Given the description of an element on the screen output the (x, y) to click on. 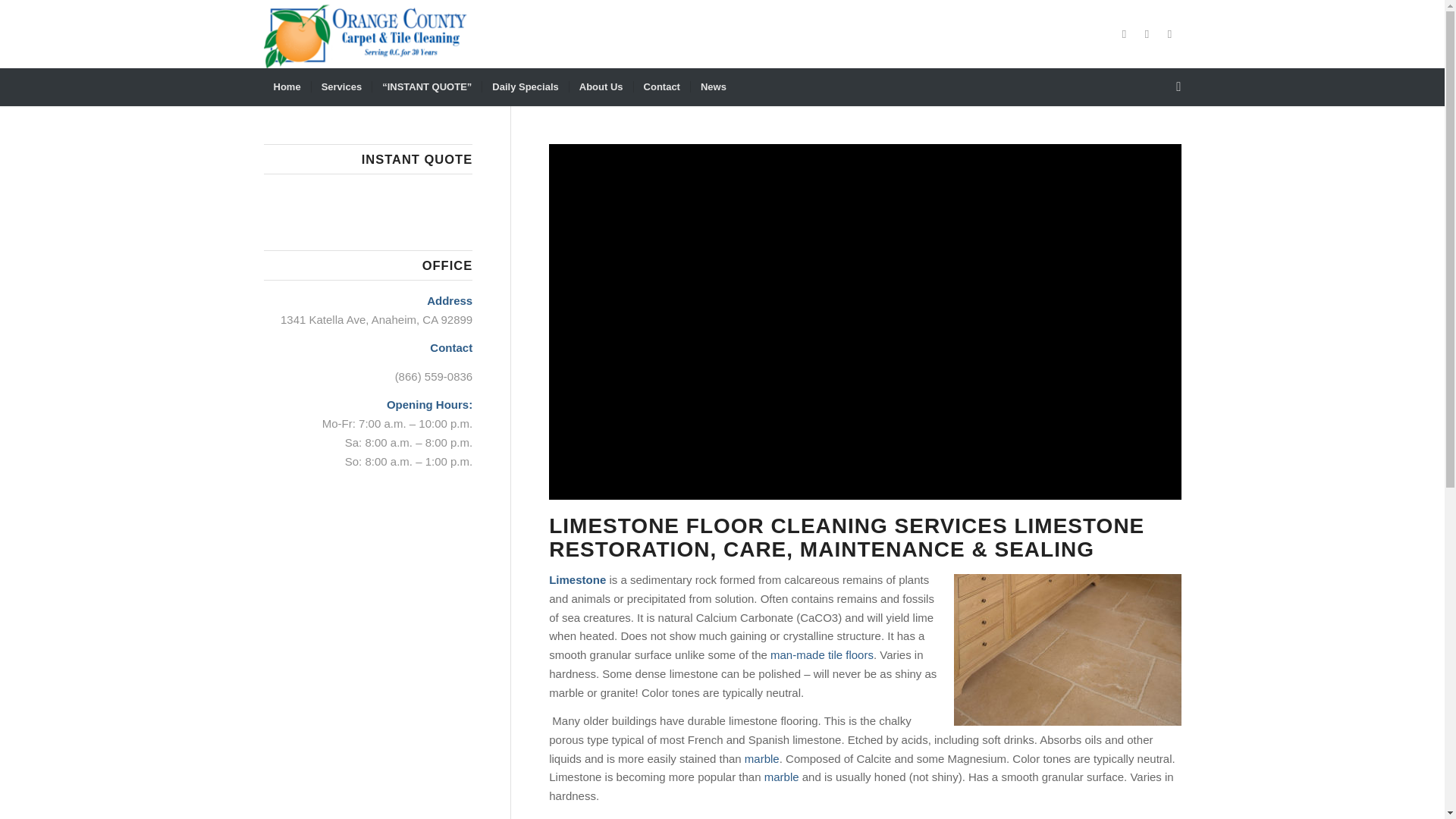
Twitter (1146, 33)
About Us (601, 86)
Services (341, 86)
Home (287, 86)
Daily Specials (524, 86)
LinkedIn (1169, 33)
Contact (661, 86)
Facebook (1124, 33)
